Given the description of an element on the screen output the (x, y) to click on. 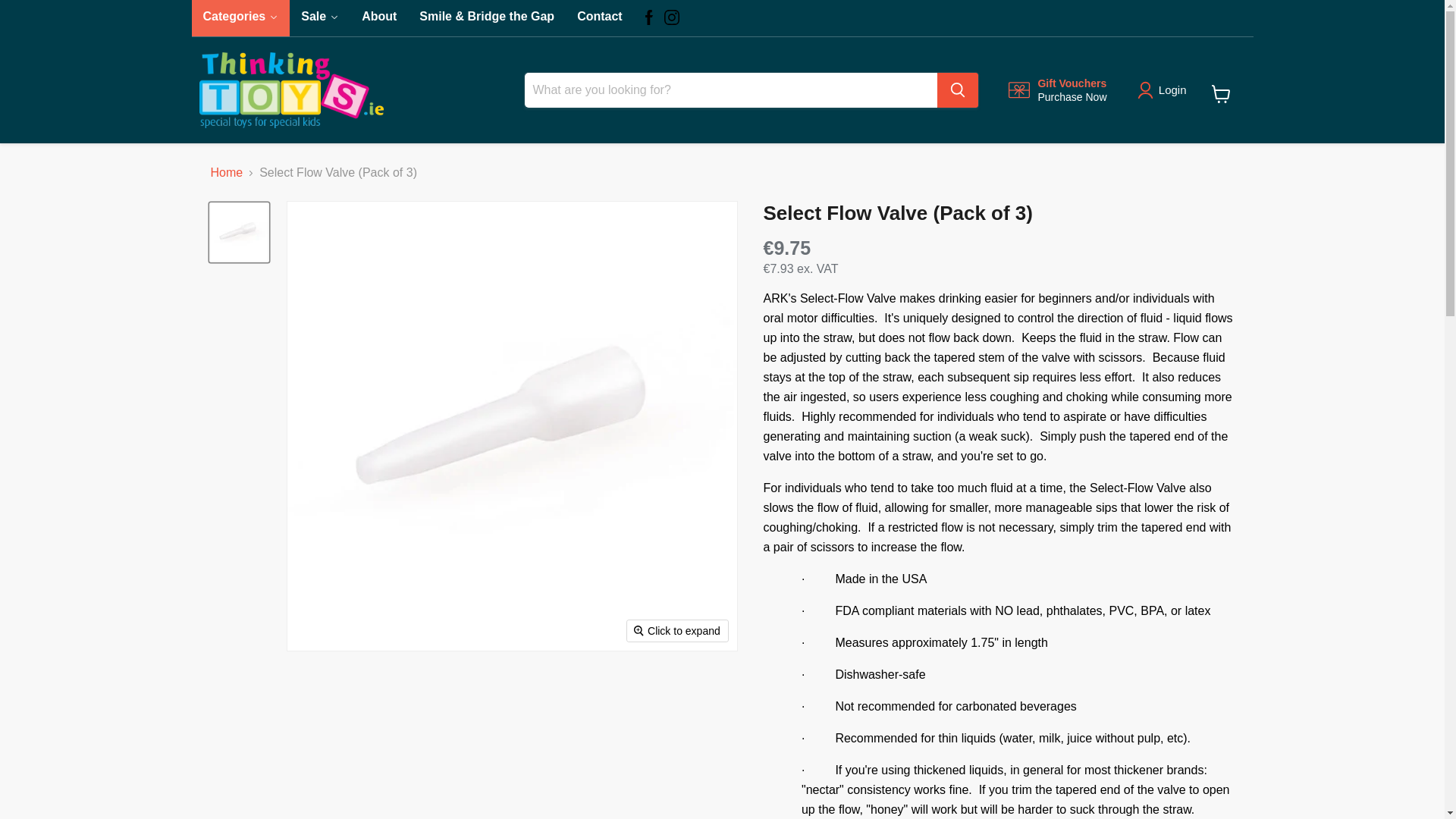
Home (227, 180)
Login (1172, 97)
View cart (1057, 97)
